Given the description of an element on the screen output the (x, y) to click on. 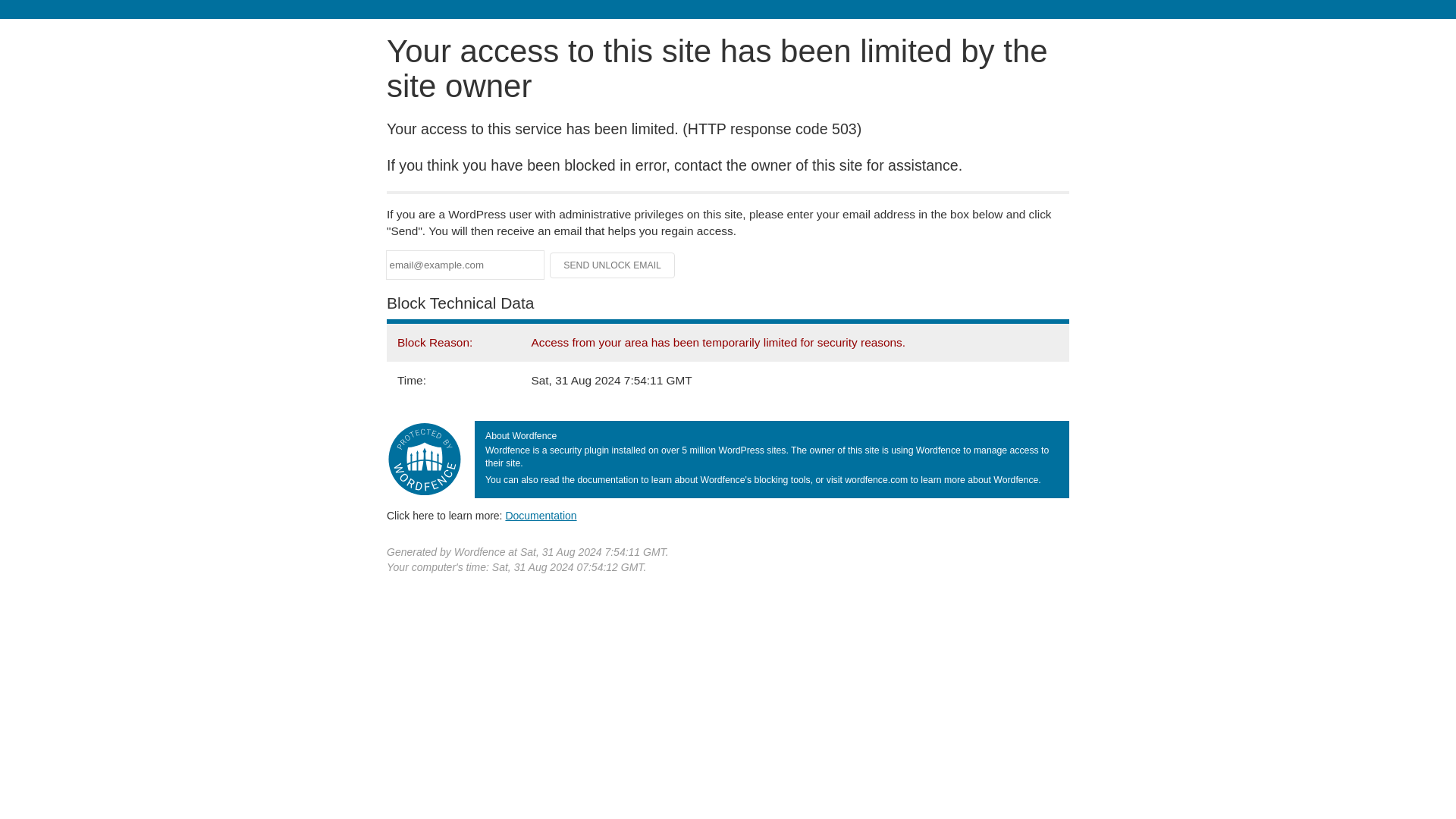
Documentation (540, 515)
Send Unlock Email (612, 265)
Send Unlock Email (612, 265)
